Given the description of an element on the screen output the (x, y) to click on. 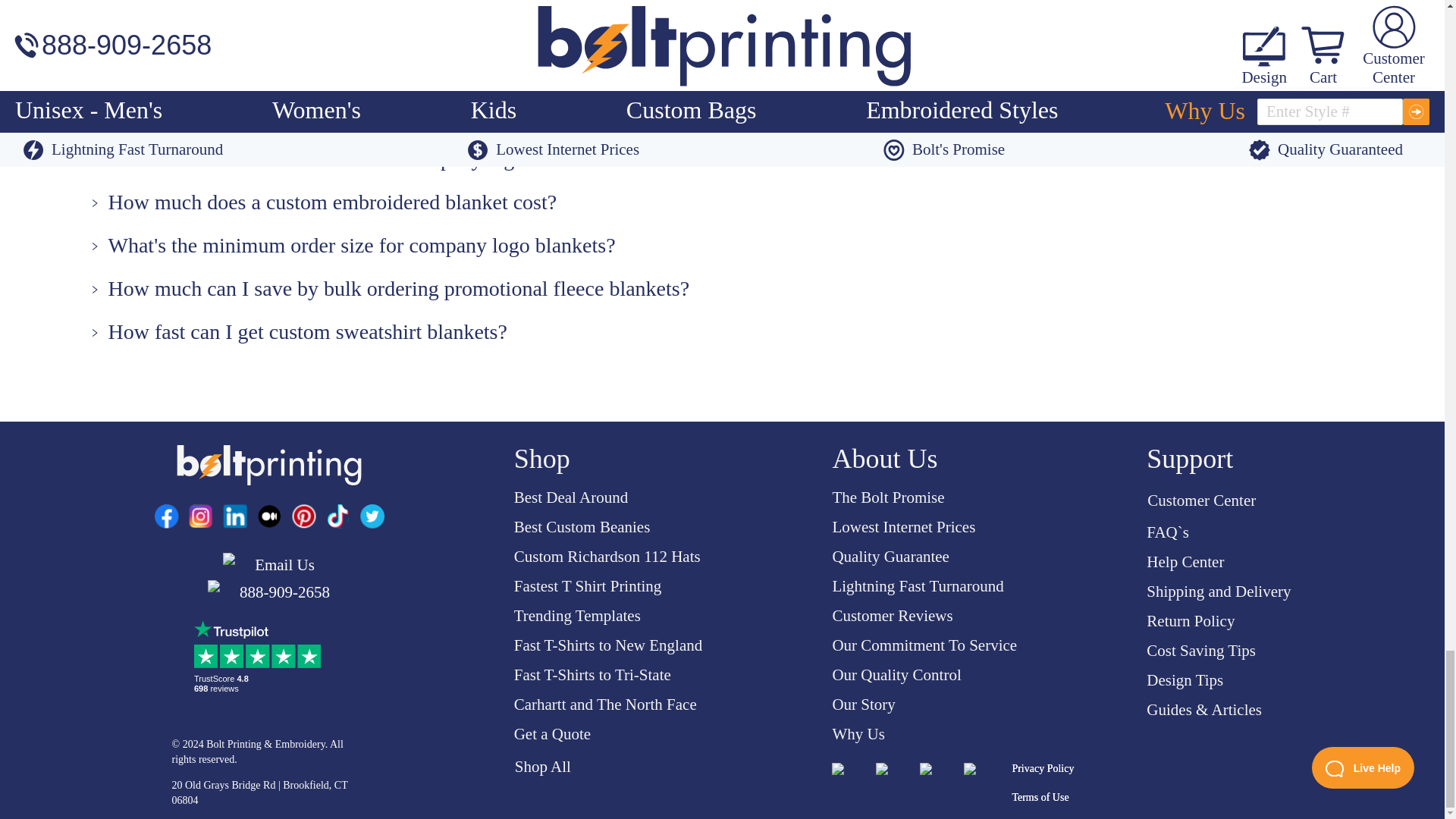
- Bolt's amazing, lightning-fast turnaround times (232, 70)
Customer reviews powered by Trustpilot (260, 657)
- Our quality guarantee (151, 32)
